Given the description of an element on the screen output the (x, y) to click on. 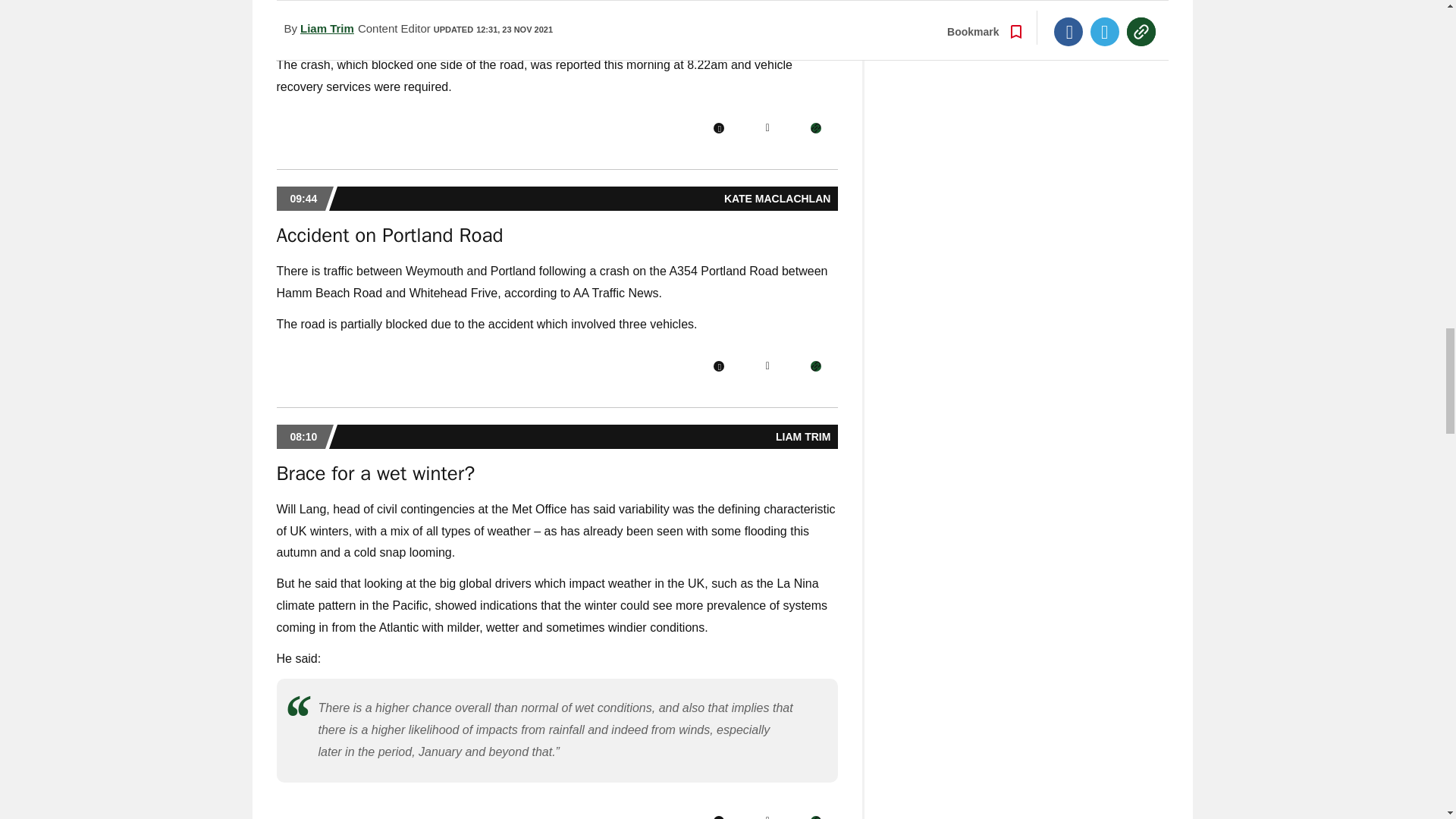
Facebook (718, 366)
Twitter (767, 127)
Twitter (767, 817)
Facebook (718, 127)
Facebook (718, 817)
Twitter (767, 366)
